Given the description of an element on the screen output the (x, y) to click on. 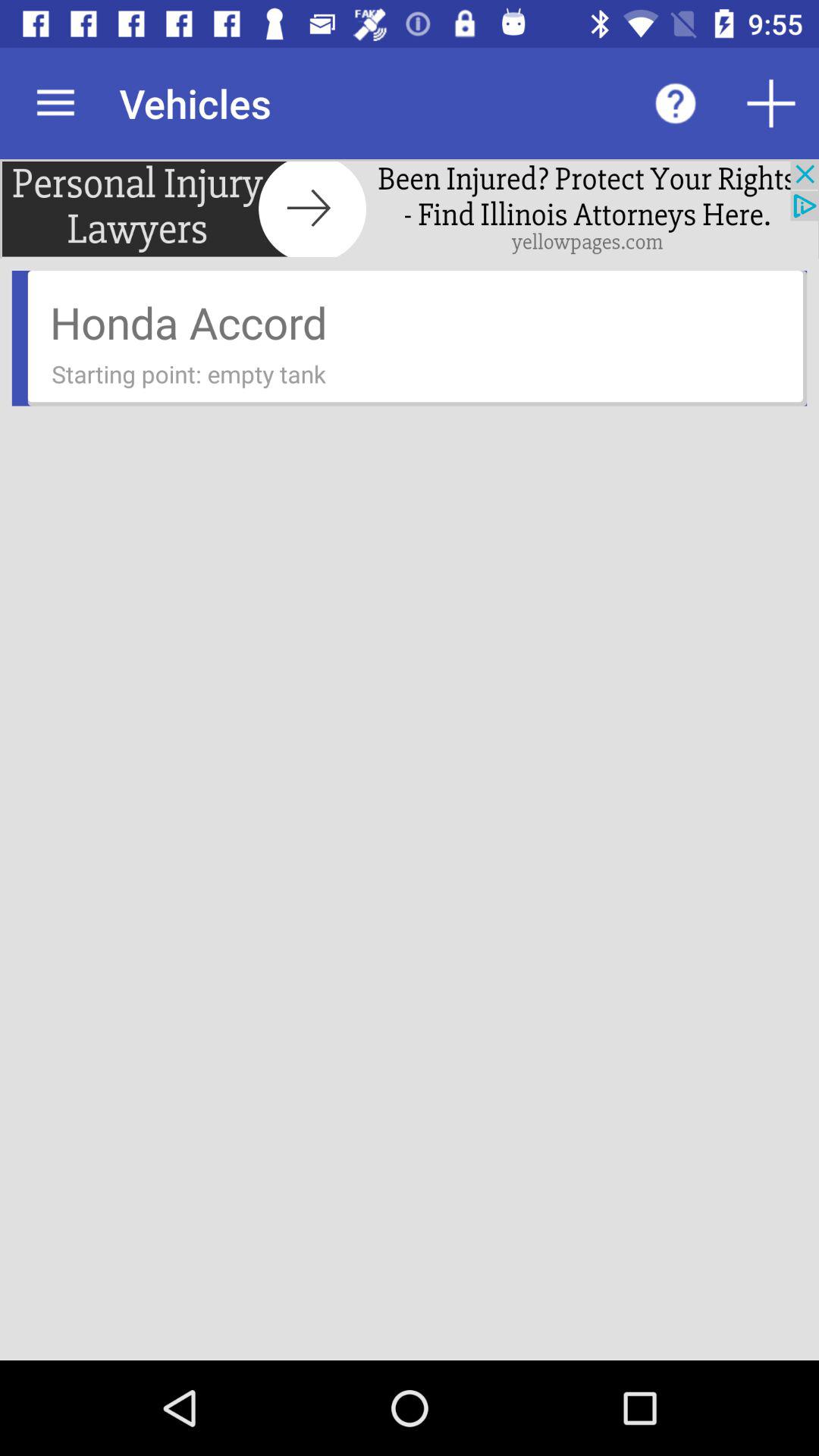
go to next (409, 208)
